Given the description of an element on the screen output the (x, y) to click on. 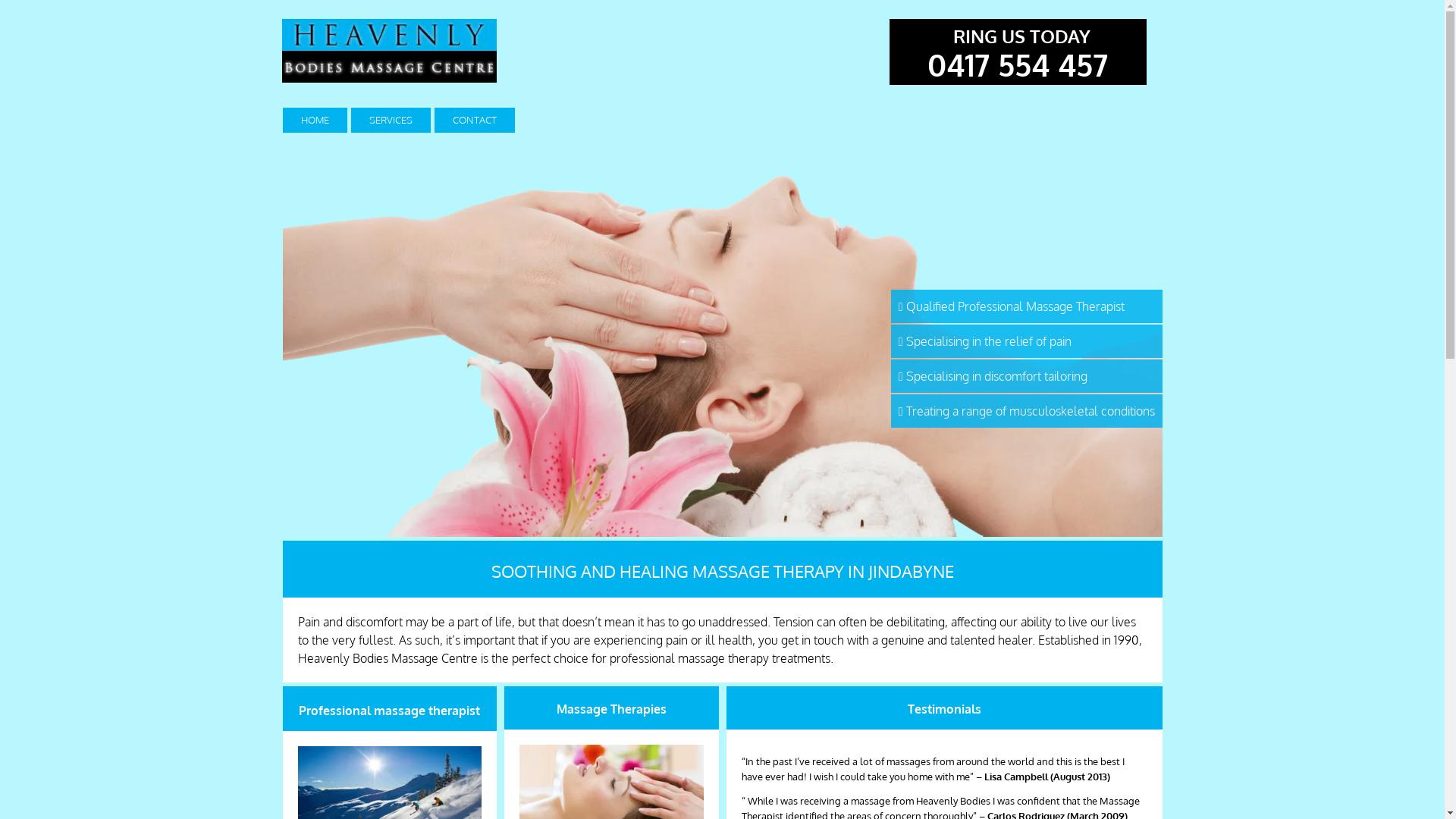
Heavenly bodies massage centre in Jindabyne Element type: hover (721, 336)
0417 554 457 Element type: text (1017, 68)
HOME Element type: text (314, 120)
CONTACT Element type: text (473, 120)
SERVICES Element type: text (389, 120)
Heavenly bodies massage centre in Jindabyne Element type: hover (389, 50)
